Given the description of an element on the screen output the (x, y) to click on. 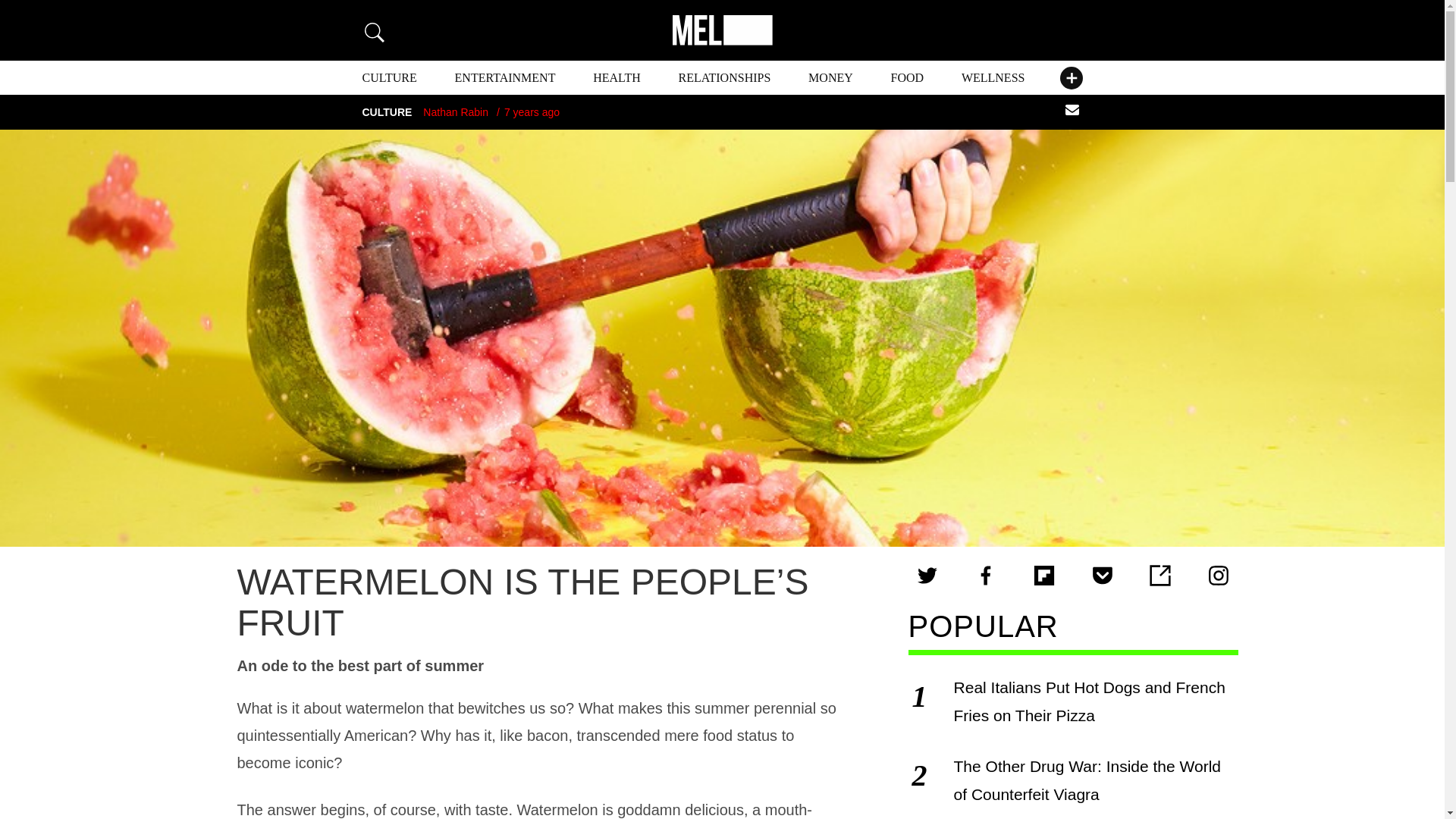
FOOD (907, 77)
WELLNESS (992, 77)
Twitter (927, 575)
Facebook (986, 575)
HEALTH (616, 77)
MEL Magazine (721, 30)
Copy Link (1159, 575)
Posts by Nathan Rabin (455, 111)
CULTURE (389, 77)
Pocket (1102, 575)
